Given the description of an element on the screen output the (x, y) to click on. 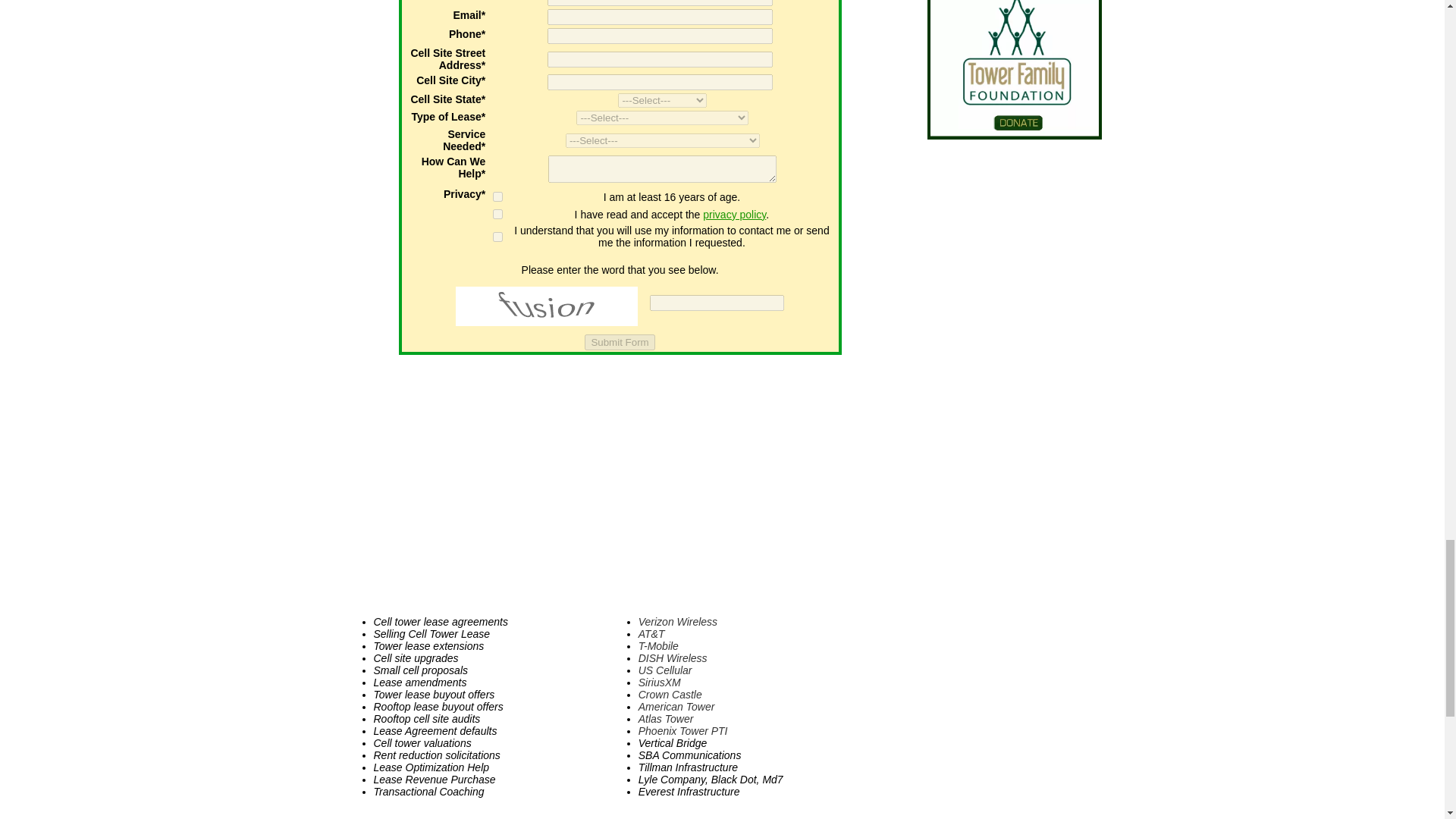
Submit Form (619, 342)
I am at least 16 years of age. (497, 196)
YouTube video player (614, 482)
